Given the description of an element on the screen output the (x, y) to click on. 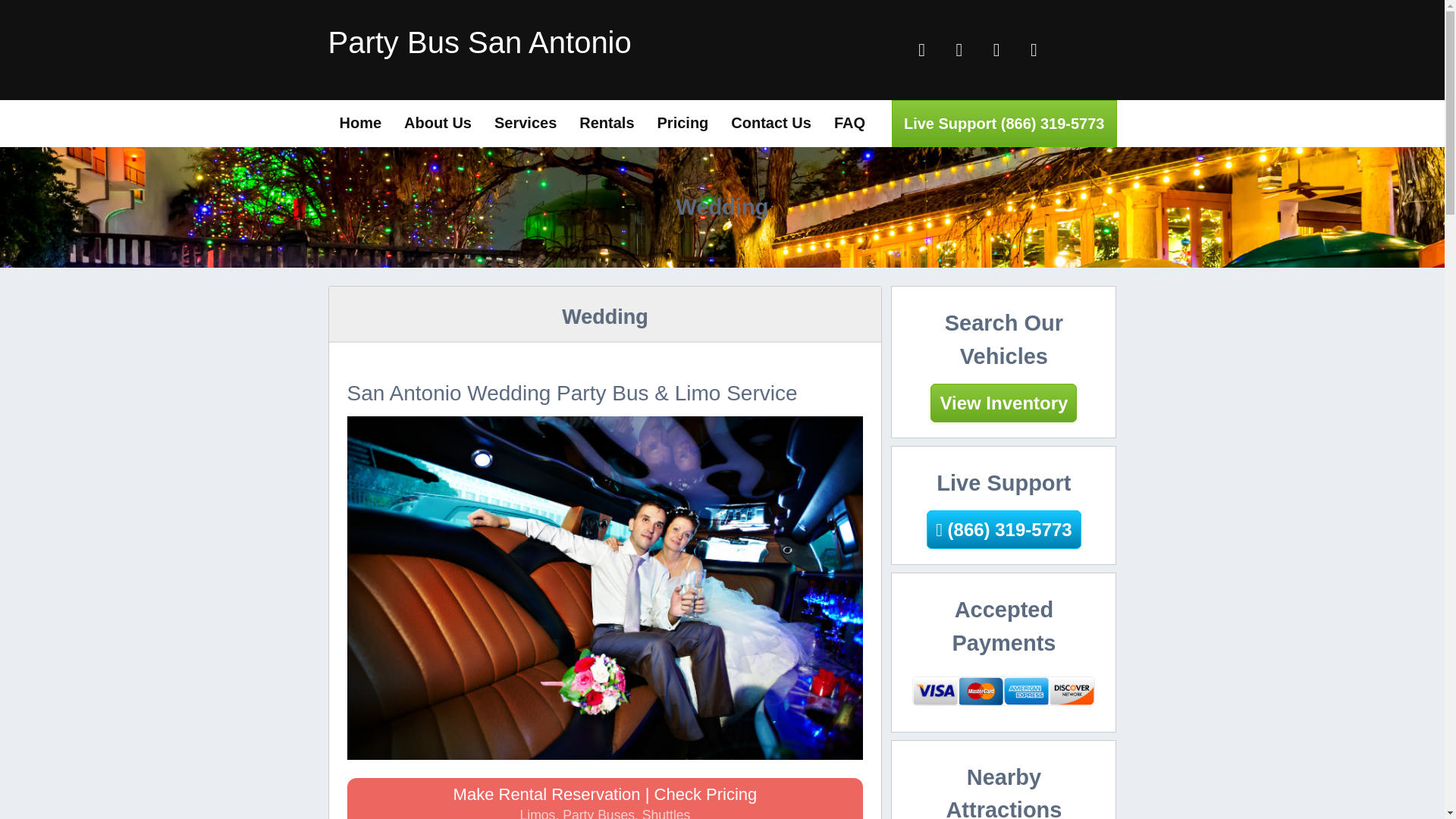
Party Bus San Antonio (478, 41)
Party Bus San Antonio (360, 122)
Rentals (606, 122)
About Us (438, 122)
Home (360, 122)
Contact Us (770, 122)
View Inventory (1003, 403)
FAQ (849, 122)
Services (525, 122)
Pricing (683, 122)
